Given the description of an element on the screen output the (x, y) to click on. 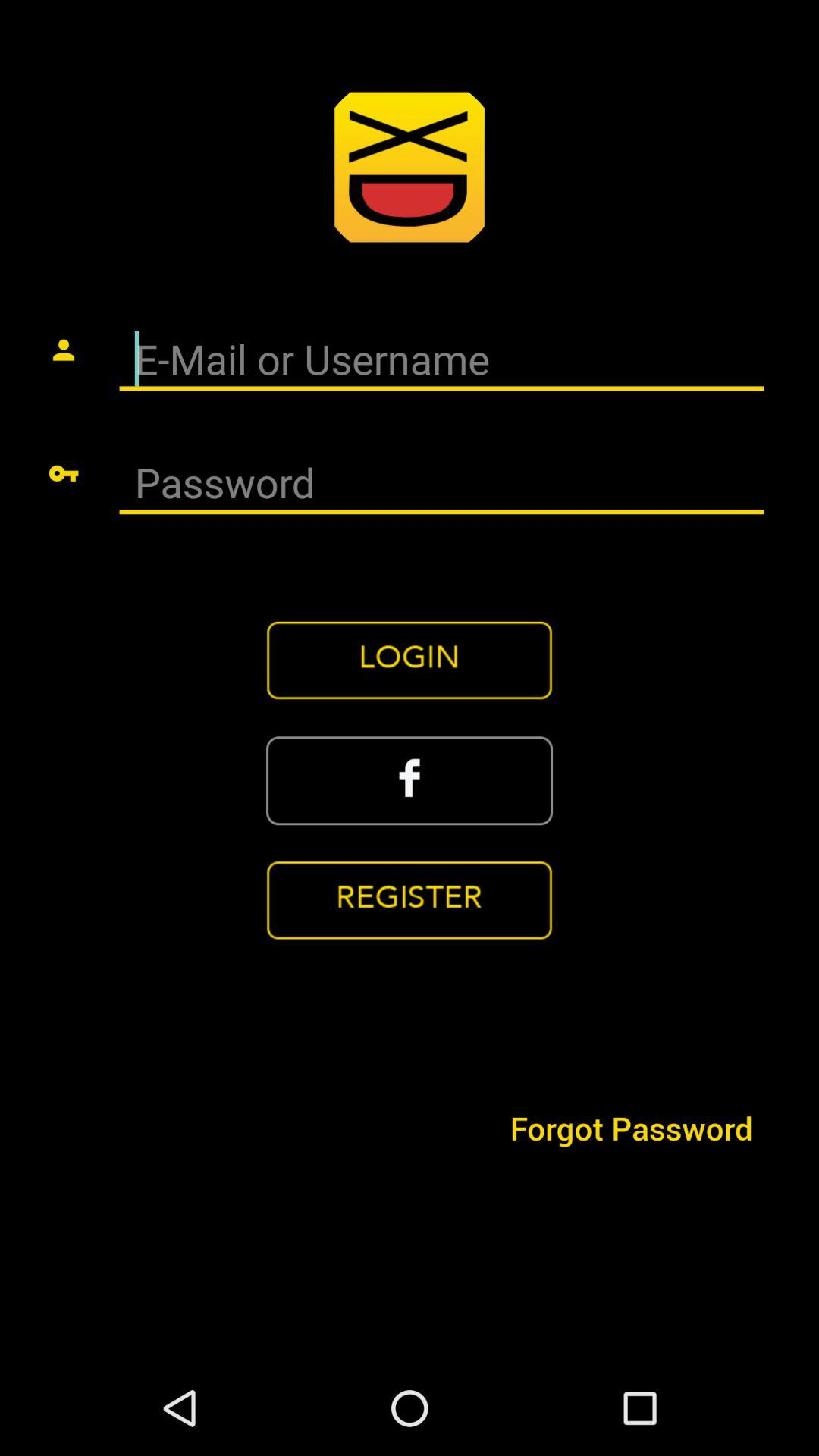
jump until the forgot password (631, 1127)
